Given the description of an element on the screen output the (x, y) to click on. 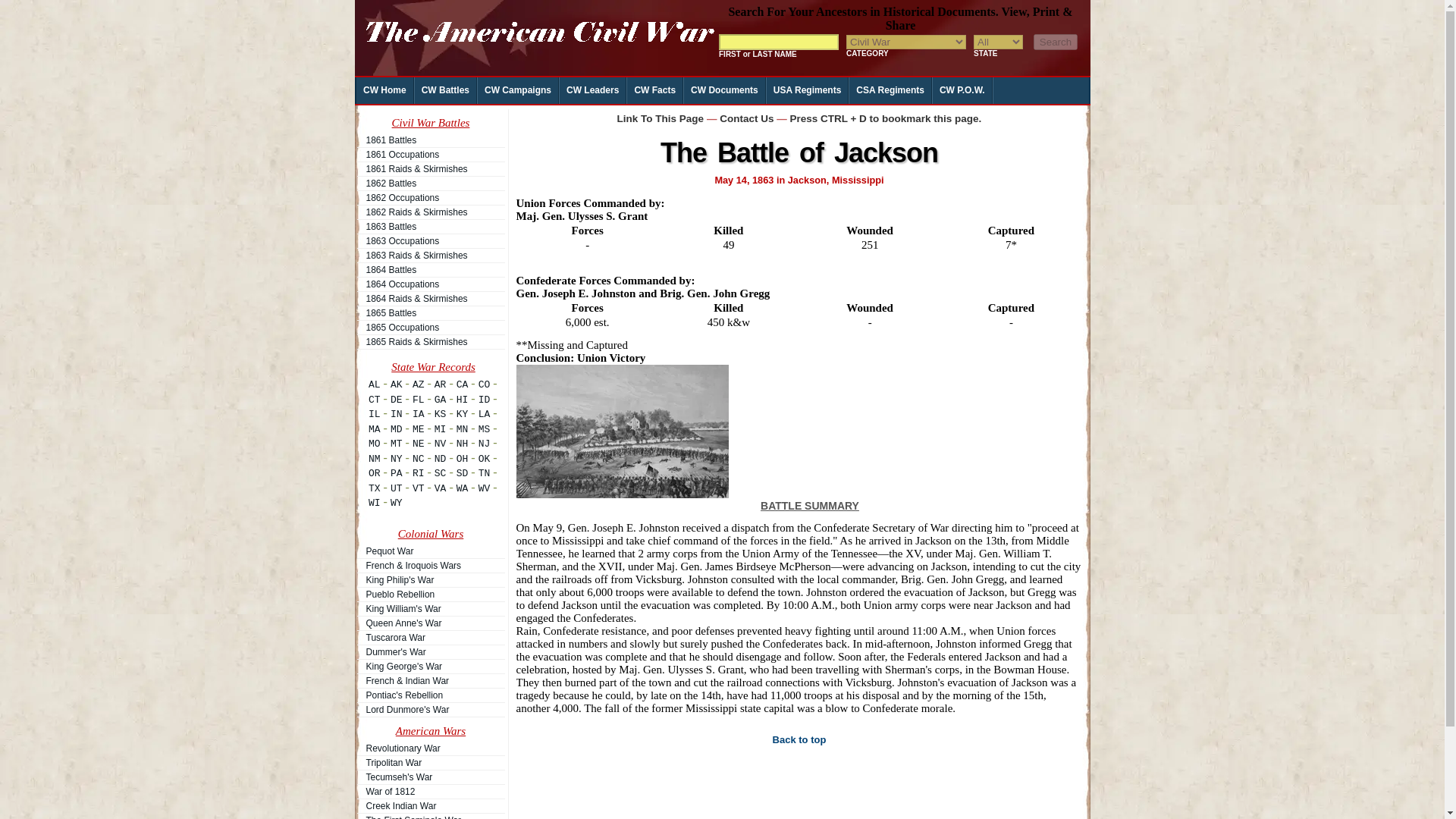
Pequot War (429, 550)
Tuscarora War (429, 637)
Dummer's War (429, 652)
CSA Regiments (889, 90)
Pueblo Rebellion (429, 594)
CW Home (384, 90)
1864 Occupations (429, 284)
King George's War (429, 666)
Tripolitan War (429, 762)
CW P.O.W. (962, 90)
1862 Battles (429, 183)
1865 Occupations (429, 327)
USA Regiments (807, 90)
King William's War (429, 608)
1863 Occupations (429, 241)
